Given the description of an element on the screen output the (x, y) to click on. 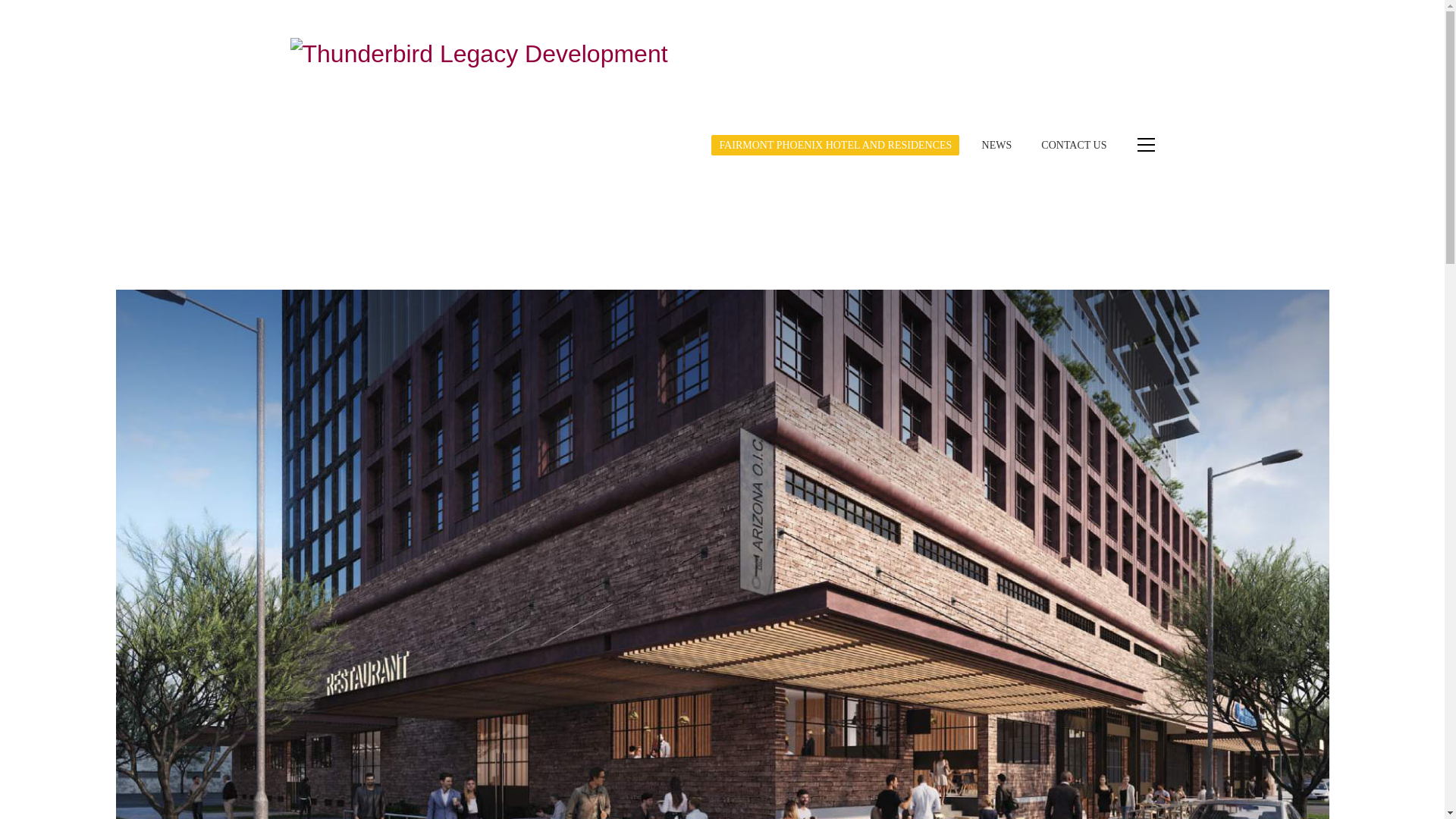
CONTACT US (1073, 145)
FAIRMONT PHOENIX HOTEL AND RESIDENCES (835, 145)
NEWS (997, 145)
